Given the description of an element on the screen output the (x, y) to click on. 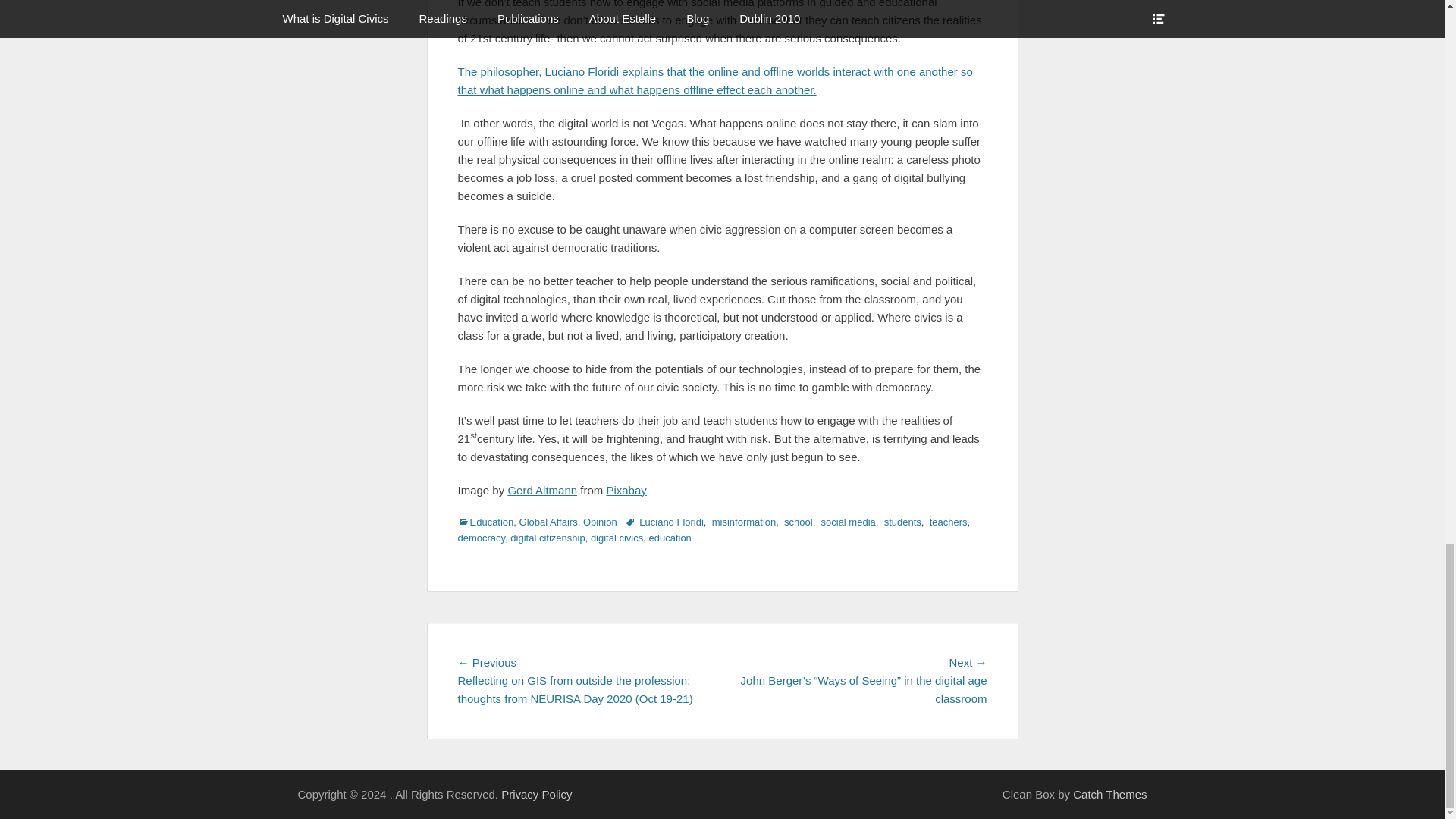
Opinion (600, 521)
Gerd Altmann (541, 490)
 school (796, 521)
Global Affairs (548, 521)
 social media (847, 521)
 misinformation (742, 521)
 teachers (946, 521)
Education (485, 521)
 Luciano Floridi (663, 521)
digital citizenship (548, 537)
